Given the description of an element on the screen output the (x, y) to click on. 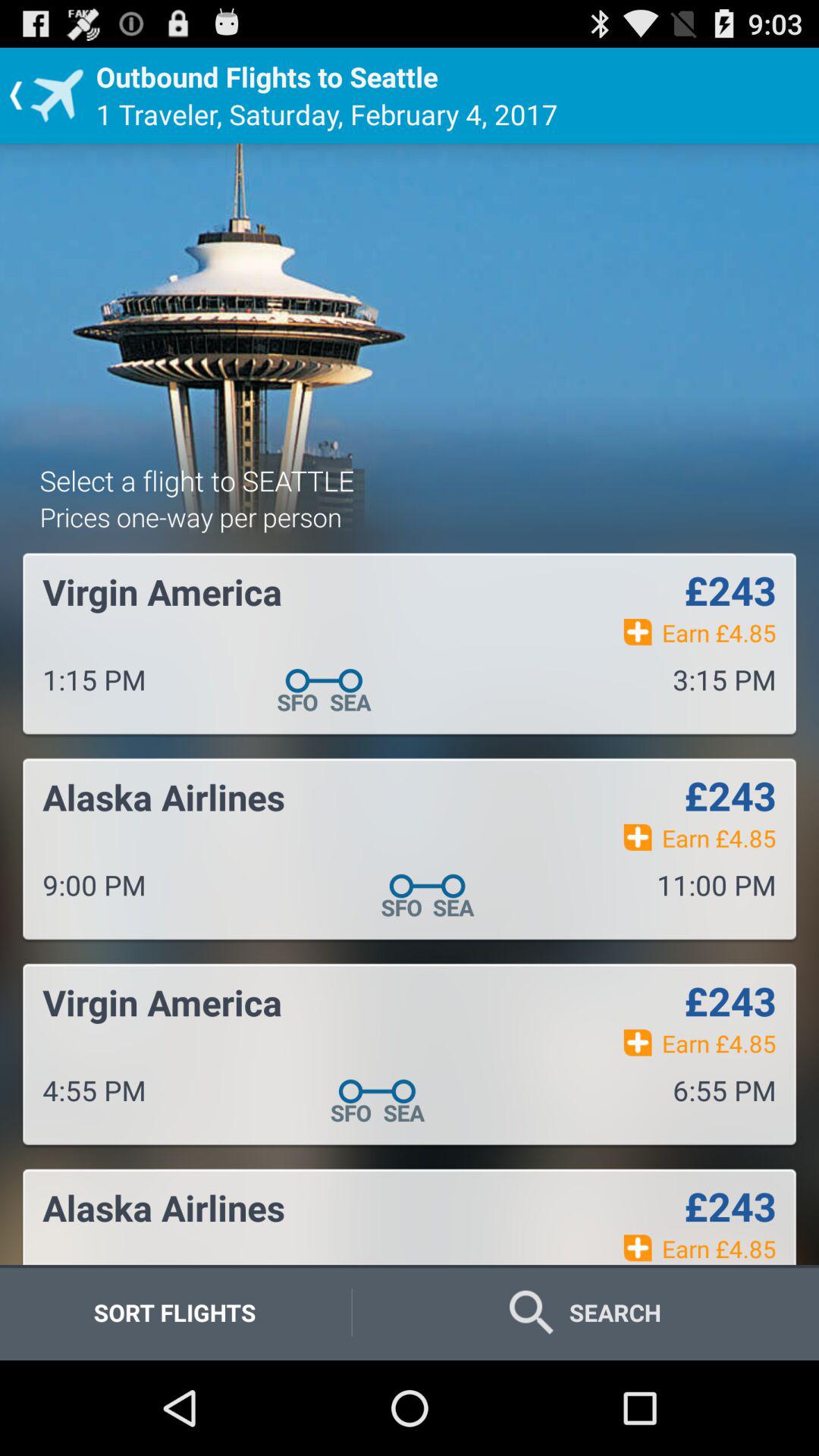
click the sort flights icon (174, 1312)
